Given the description of an element on the screen output the (x, y) to click on. 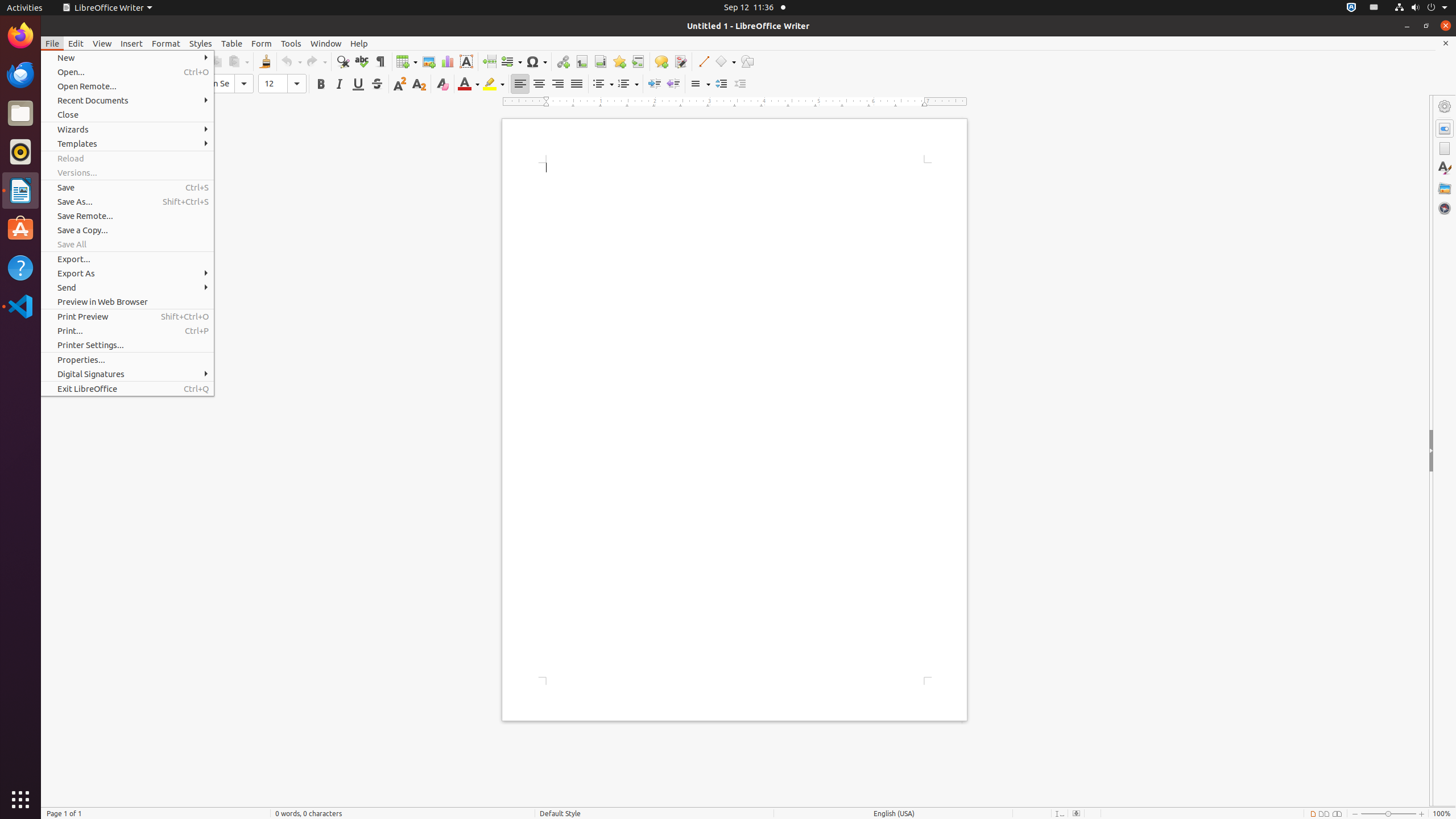
Basic Shapes Element type: push-button (724, 61)
Styles Element type: radio-button (1444, 168)
Font Color Element type: push-button (468, 83)
Styles Element type: menu (200, 43)
Save Remote... Element type: menu-item (126, 215)
